Given the description of an element on the screen output the (x, y) to click on. 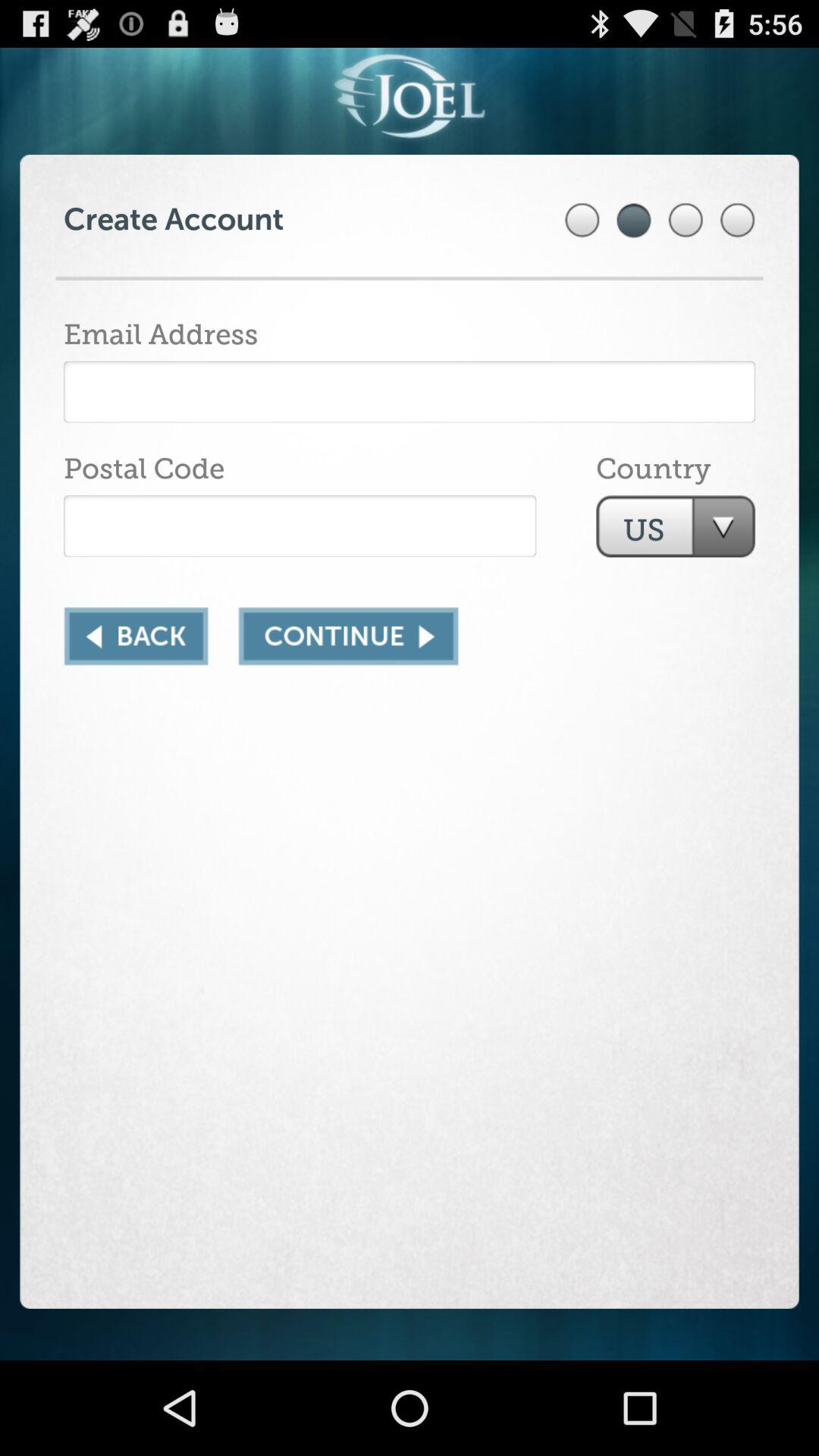
input text postal code (299, 525)
